Given the description of an element on the screen output the (x, y) to click on. 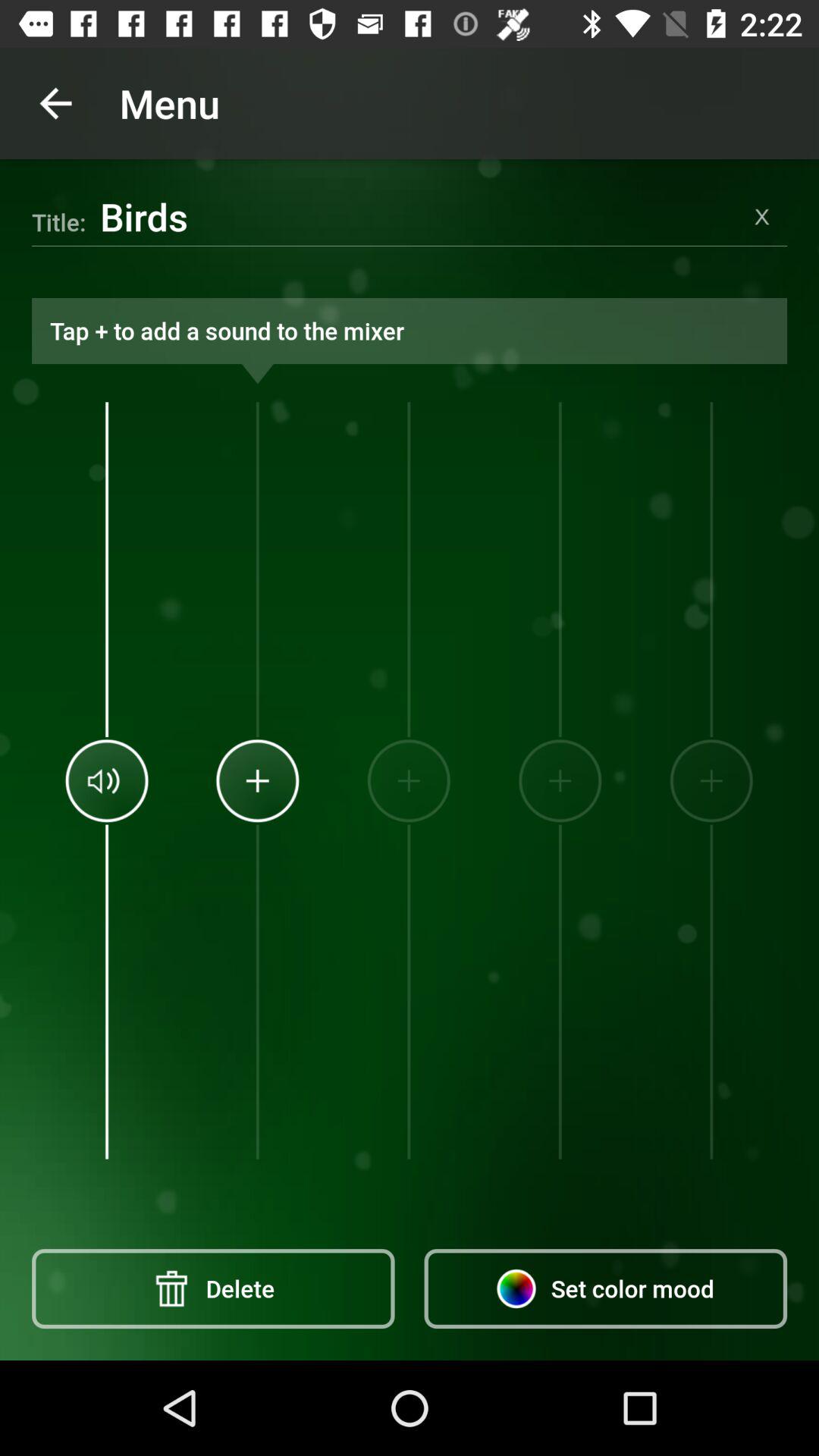
click icon to the right of the birds icon (762, 216)
